Given the description of an element on the screen output the (x, y) to click on. 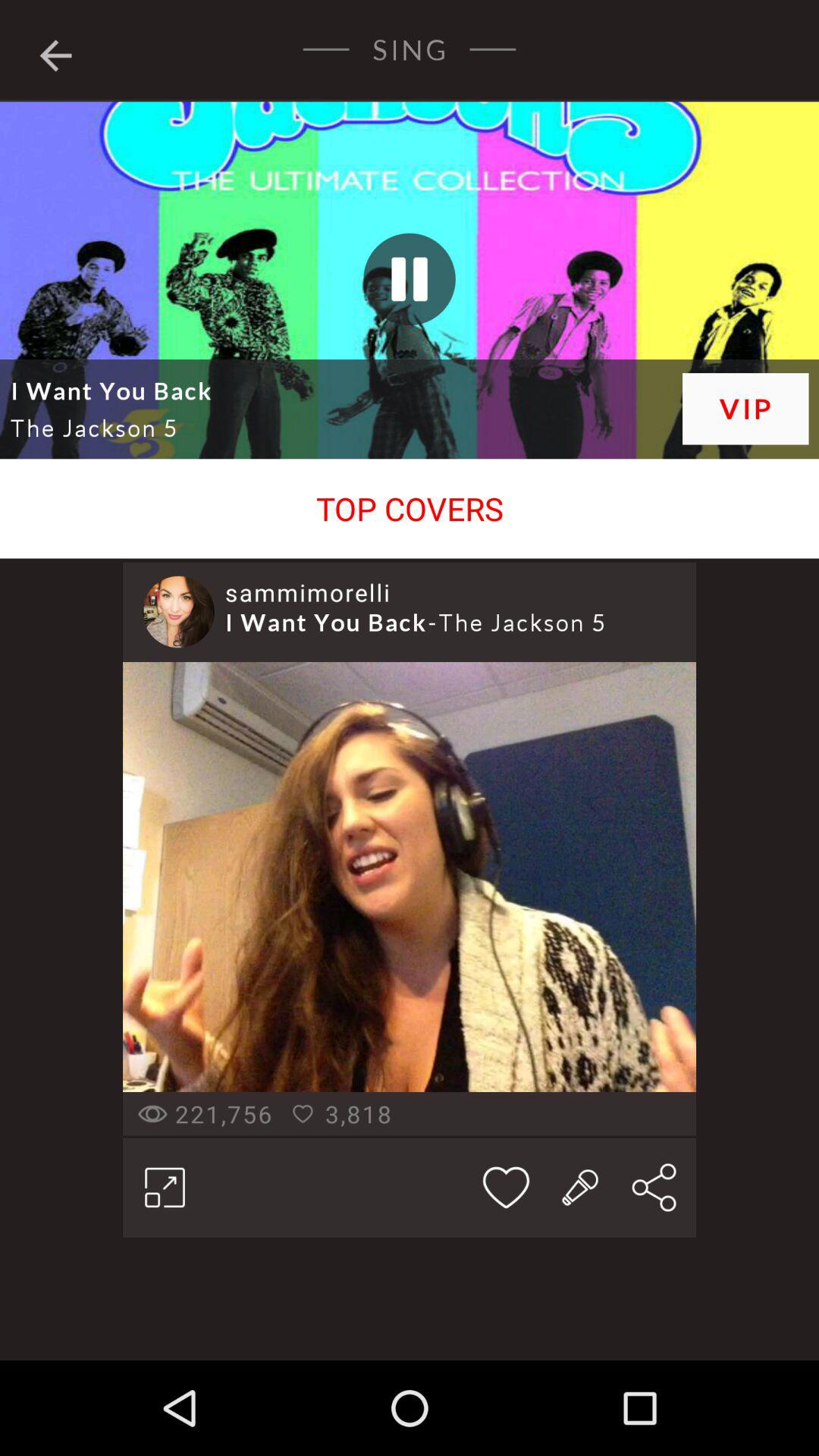
jump to sammimorelli (307, 592)
